Given the description of an element on the screen output the (x, y) to click on. 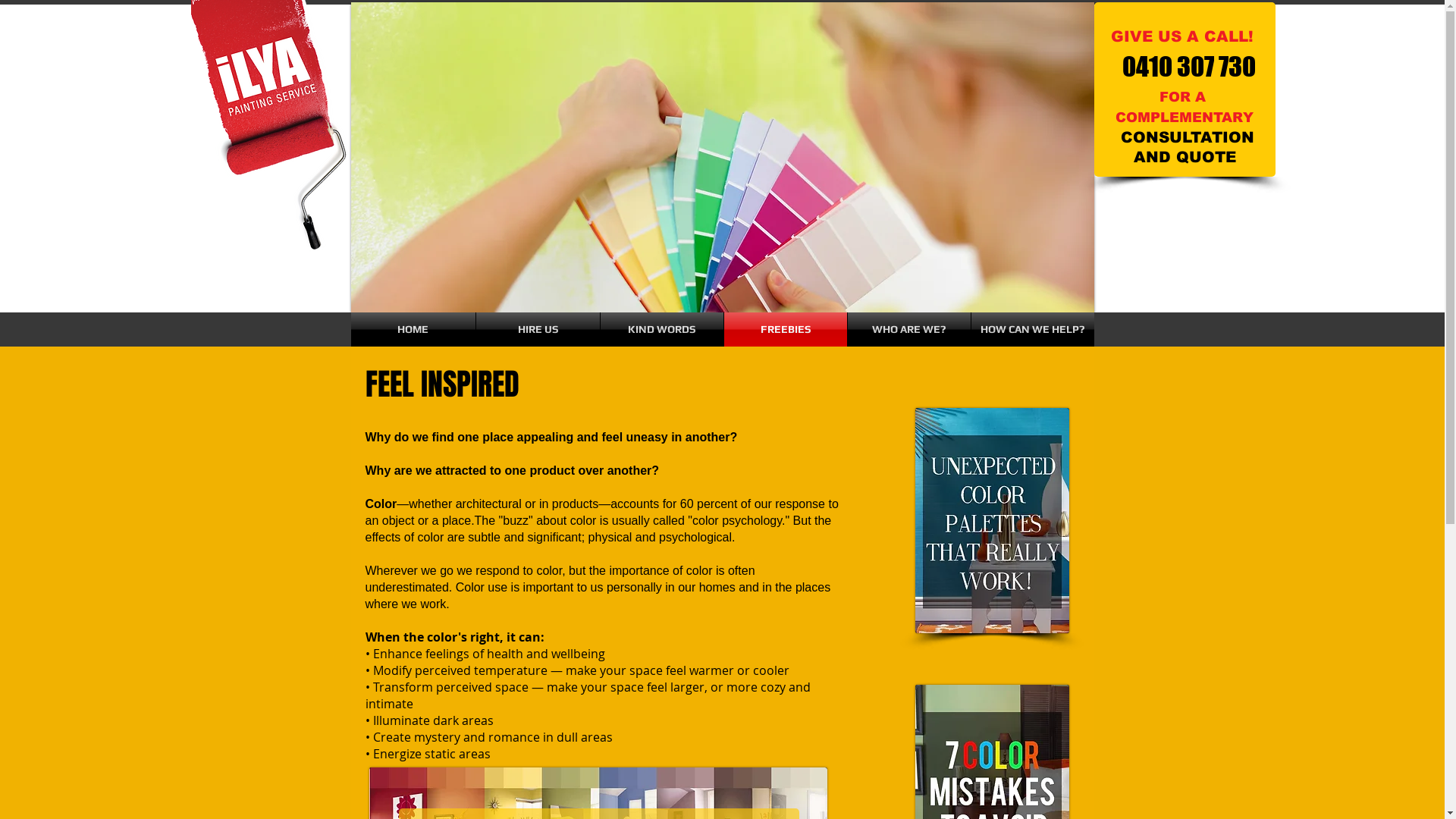
HIRE US Element type: text (537, 329)
KIND WORDS Element type: text (661, 329)
WHO ARE WE? Element type: text (908, 329)
HOME Element type: text (412, 329)
HOW CAN WE HELP? Element type: text (1031, 329)
FREEBIES Element type: text (784, 329)
